Given the description of an element on the screen output the (x, y) to click on. 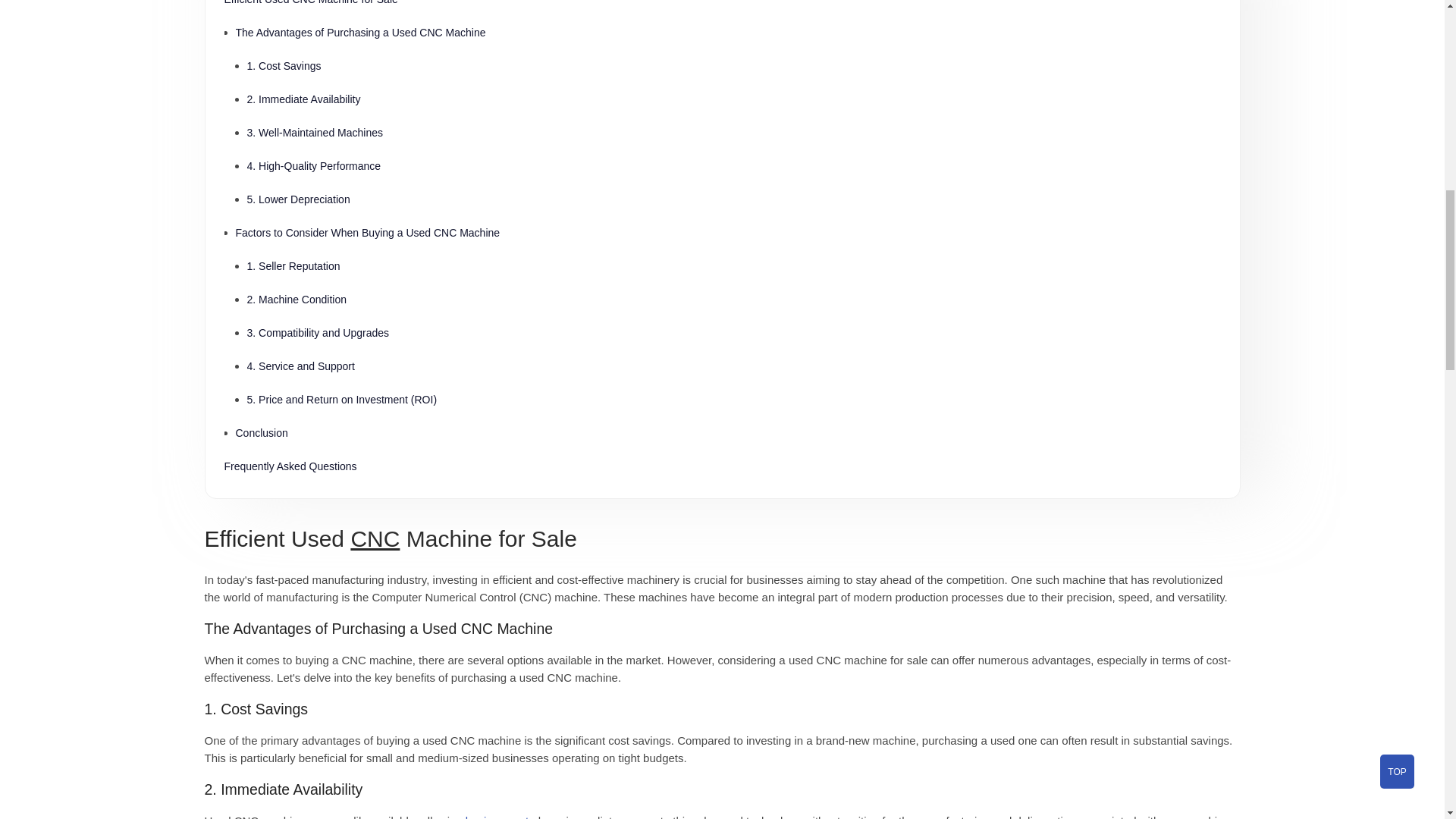
Efficient Used CNC Machine for Sale (722, 7)
2. Immediate Availability (734, 99)
1. Cost Savings (734, 65)
Posts tagged with cnc (374, 538)
The Advantages of Purchasing a Used CNC Machine (727, 32)
